Given the description of an element on the screen output the (x, y) to click on. 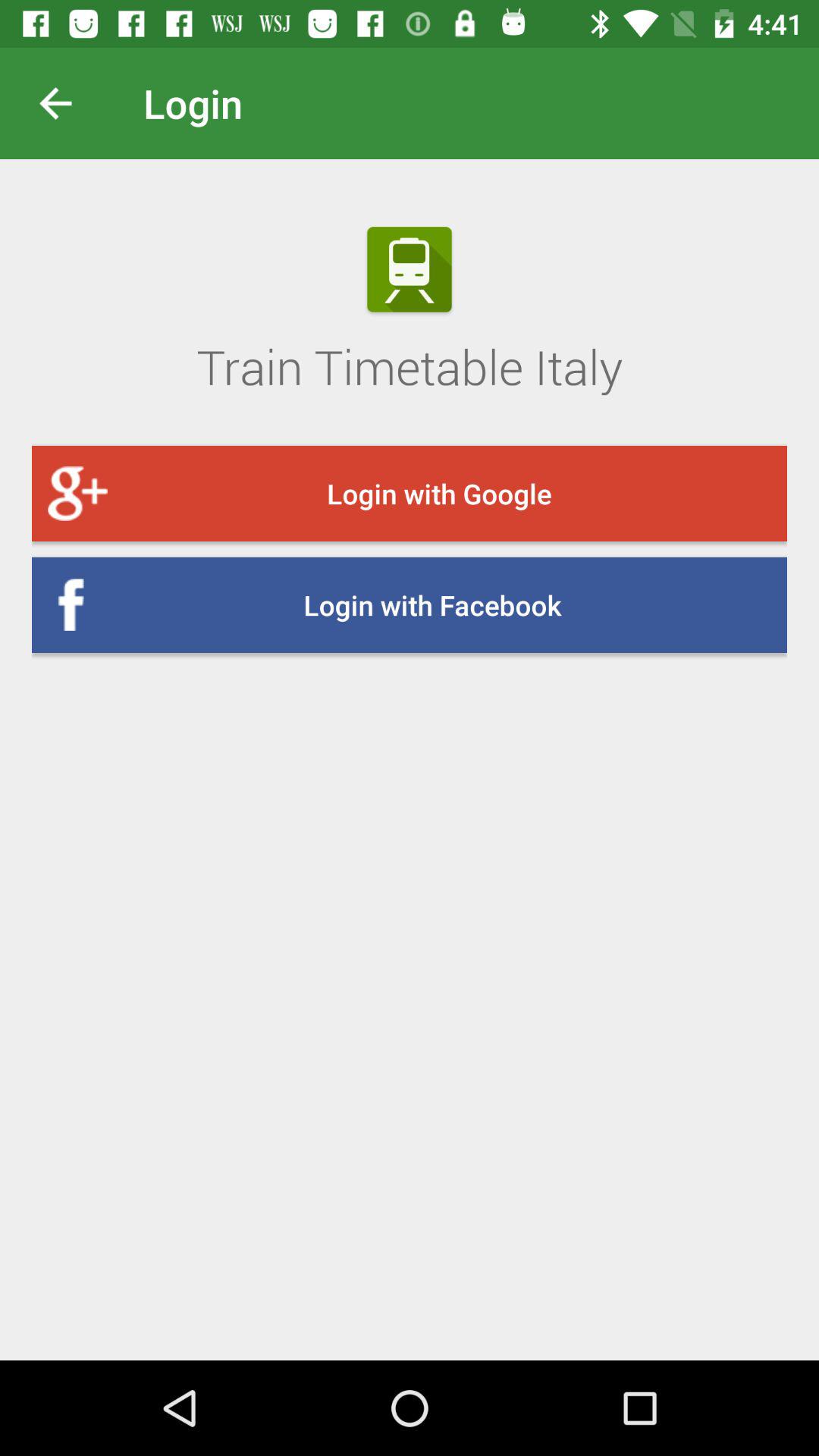
open item to the left of login (67, 103)
